Given the description of an element on the screen output the (x, y) to click on. 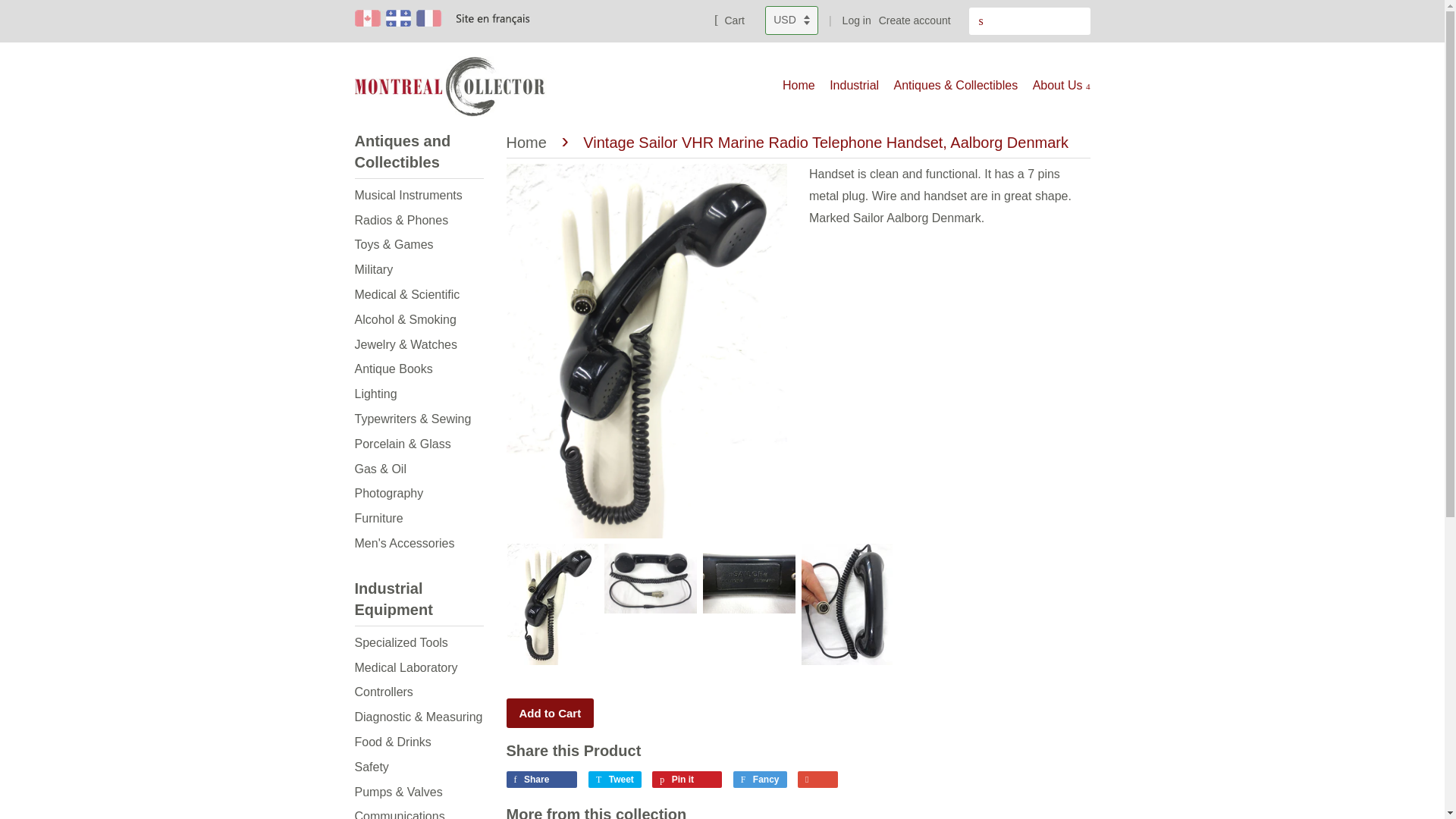
Cart (729, 20)
Create account (914, 20)
Back to the frontpage (528, 142)
Log in (856, 20)
